Given the description of an element on the screen output the (x, y) to click on. 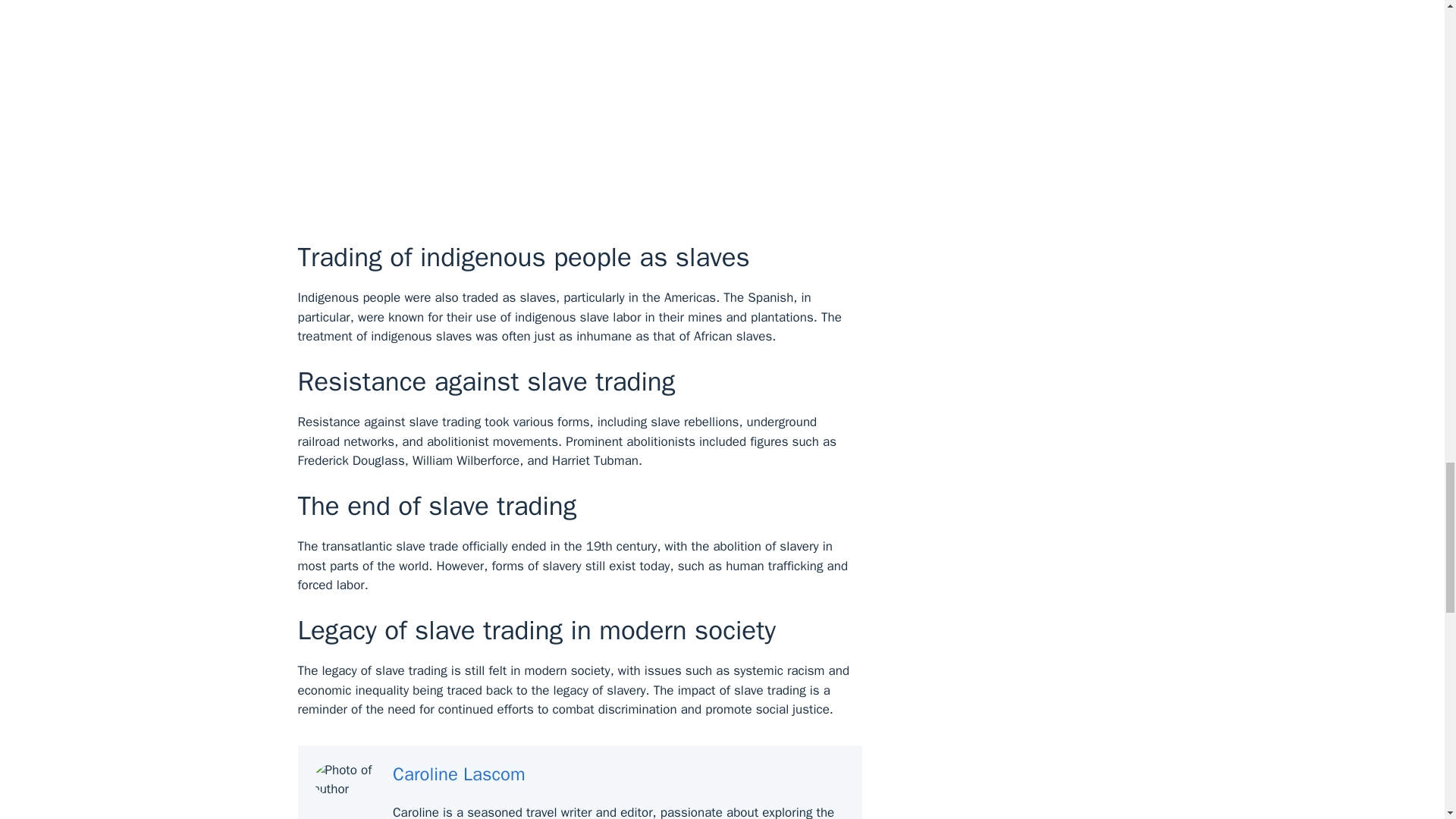
YouTube video player (509, 108)
